Given the description of an element on the screen output the (x, y) to click on. 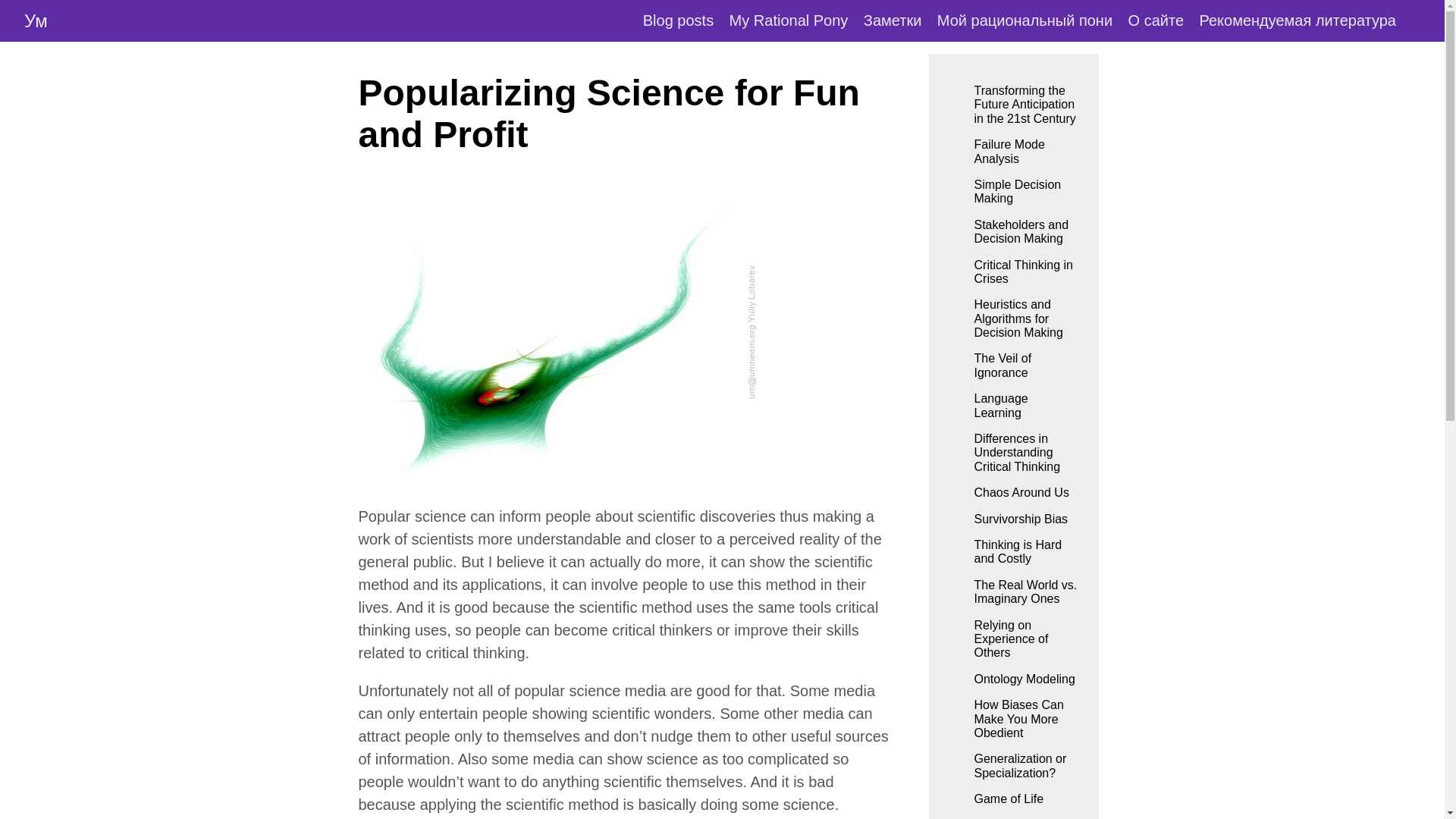
Language Learning (1025, 405)
Blog posts (678, 20)
Thinking is Hard and Costly (1025, 552)
The Veil of Ignorance (1025, 365)
Transforming the Future Anticipation in the 21st Century (1025, 104)
Comic series about cognitive biases (788, 20)
Relying on Experience of Others (1025, 639)
Ontology Modeling (1025, 679)
Critical Thinking in Crises (1025, 272)
Survivorship Bias (1025, 519)
Differences in Understanding Critical Thinking (1025, 452)
Chaos Around Us (1025, 492)
Heuristics and Algorithms for Decision Making (1025, 318)
How Biases Can Make You More Obedient (1025, 719)
Game of Life (1025, 799)
